Given the description of an element on the screen output the (x, y) to click on. 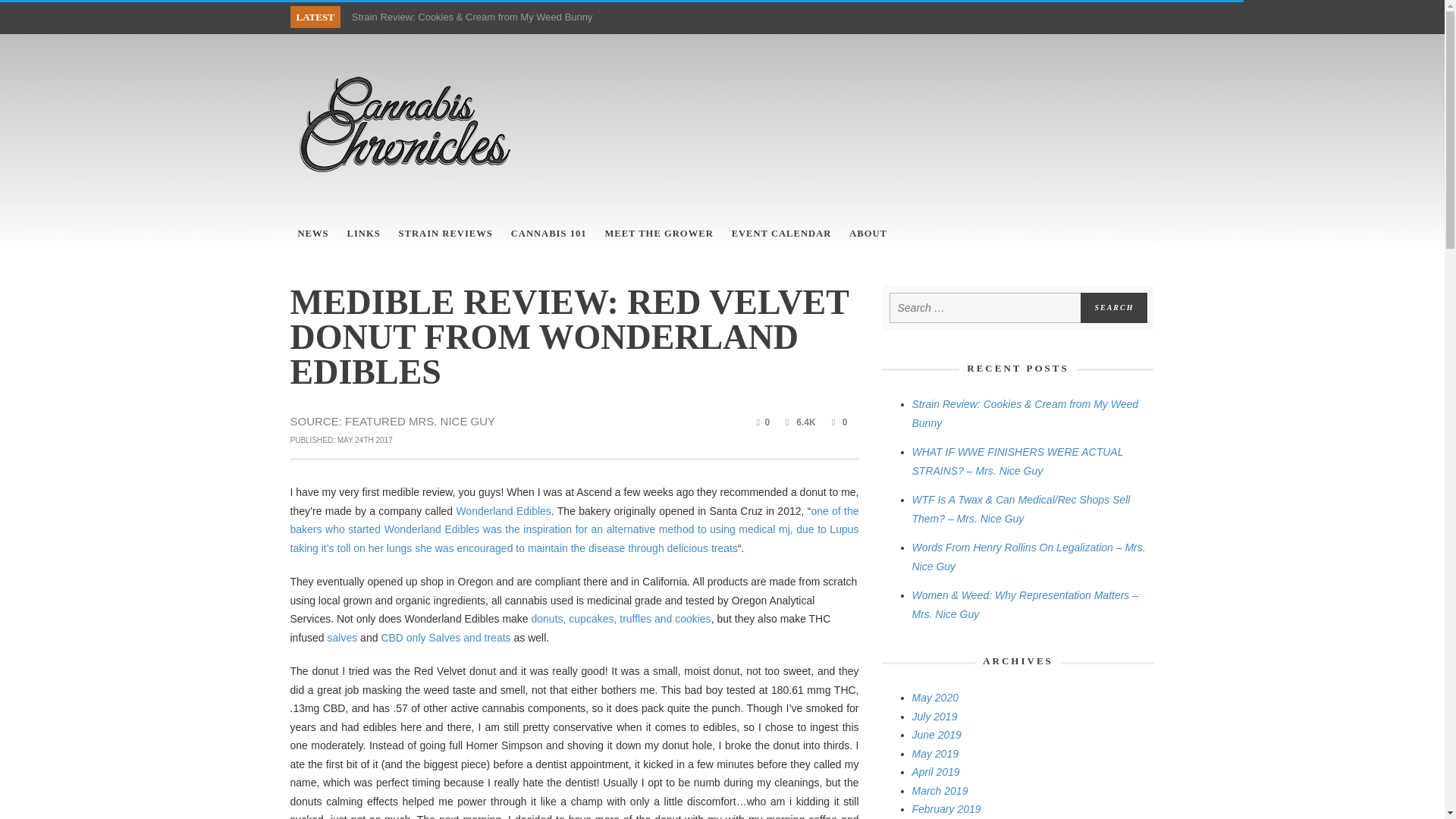
Wonderland Edibles (502, 510)
EVENT CALENDAR (781, 233)
LINKS (363, 233)
0 (837, 421)
NEWS (312, 233)
CANNABIS 101 (548, 233)
MEET THE GROWER (658, 233)
ABOUT (868, 233)
donuts, cupcakes, truffles and cookies (621, 618)
STRAIN REVIEWS (445, 233)
